Given the description of an element on the screen output the (x, y) to click on. 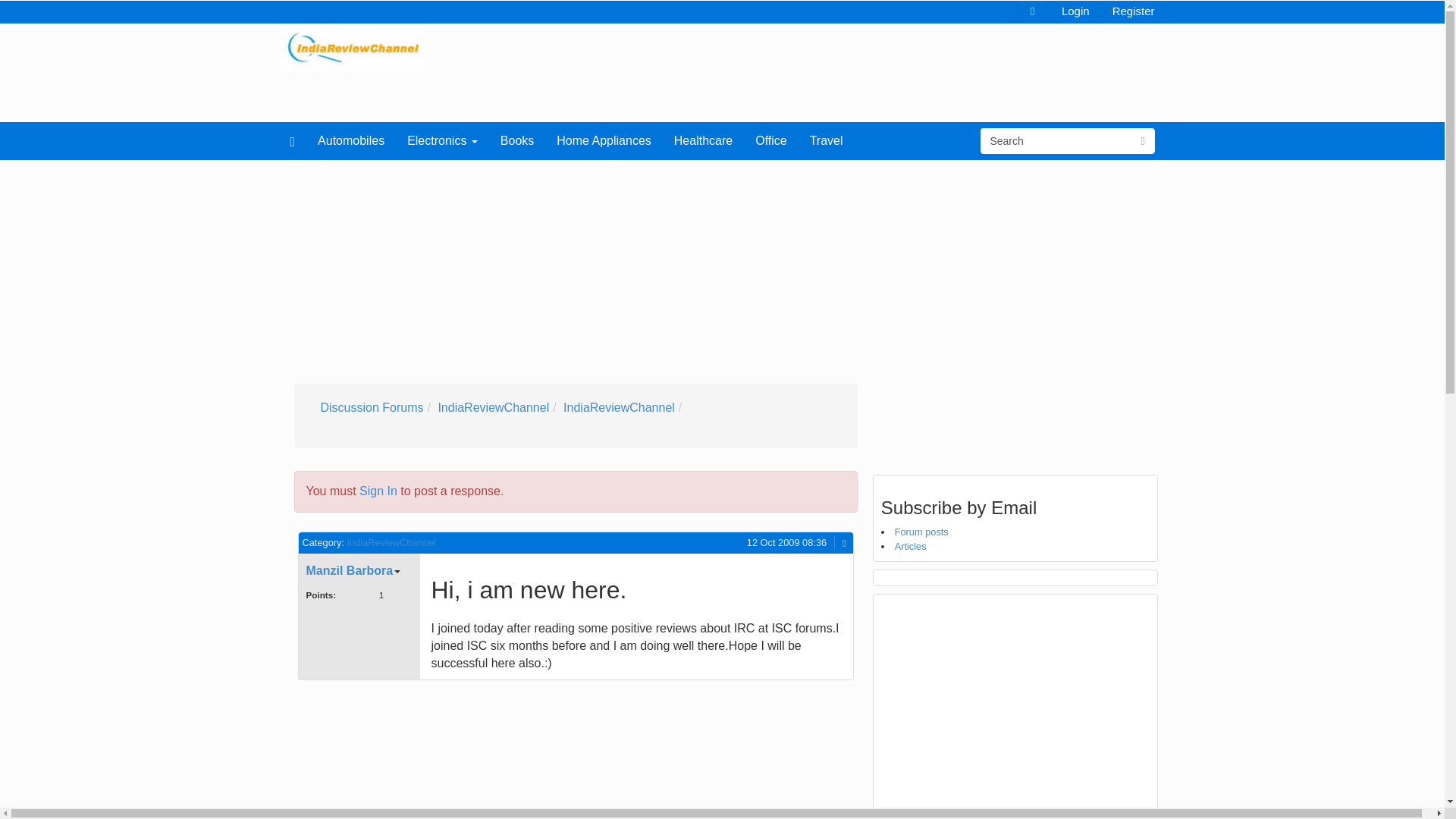
Advertisement (432, 753)
IndiaReviewChannel (619, 407)
Office (770, 140)
Healthcare (703, 140)
Advertisement (1015, 707)
Automobiles (350, 140)
IndiaReviewChannel.com (352, 46)
Register (1133, 9)
IndiaReviewChannel (493, 407)
Search (1055, 140)
Electronics (442, 140)
Home Appliances (603, 140)
Manzil Barbora (349, 570)
Login (1074, 9)
Travel (825, 140)
